Given the description of an element on the screen output the (x, y) to click on. 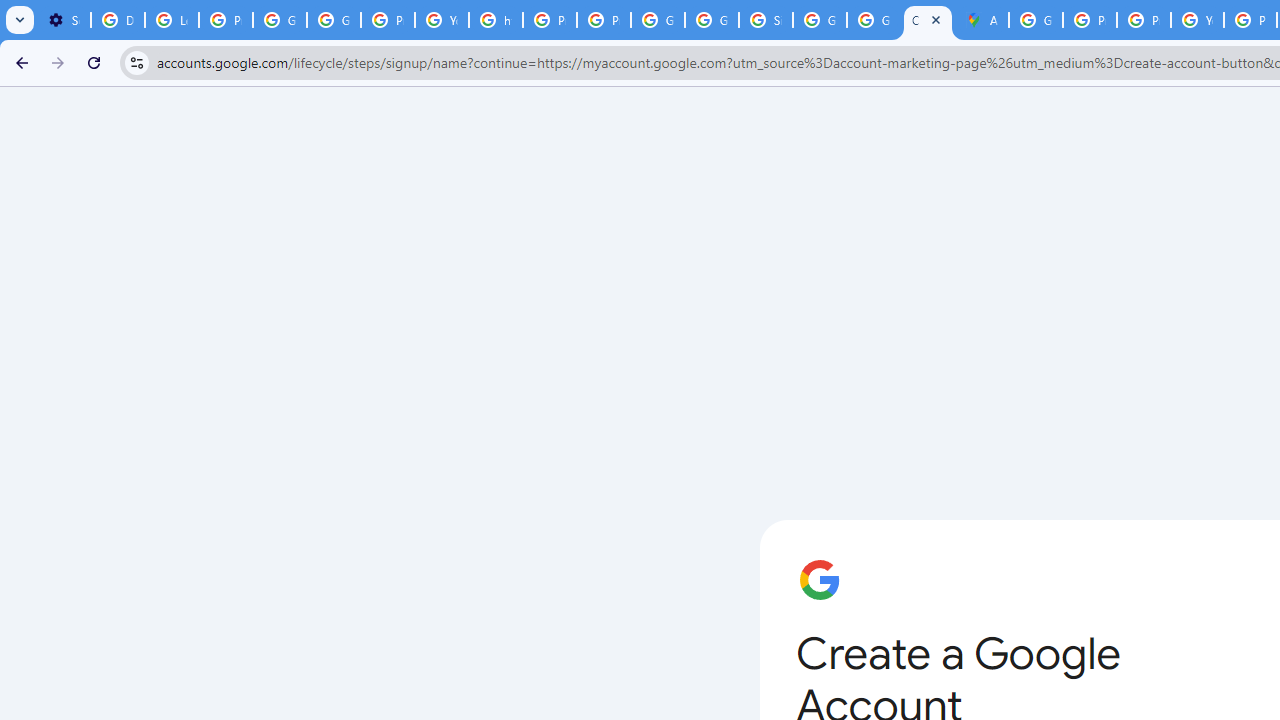
Google Account Help (280, 20)
YouTube (441, 20)
YouTube (1197, 20)
Sign in - Google Accounts (765, 20)
Privacy Help Center - Policies Help (1144, 20)
